Given the description of an element on the screen output the (x, y) to click on. 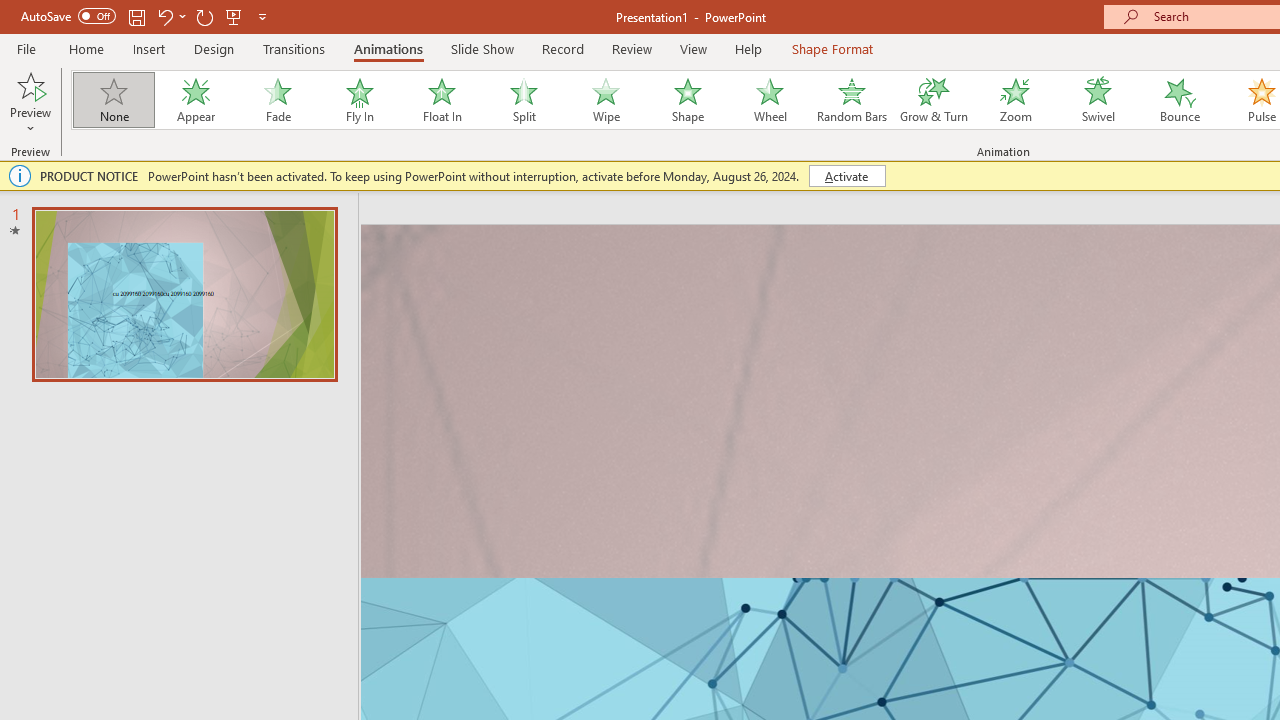
Fade (277, 100)
Activate (846, 175)
Grow & Turn (934, 100)
Bounce (1180, 100)
